Given the description of an element on the screen output the (x, y) to click on. 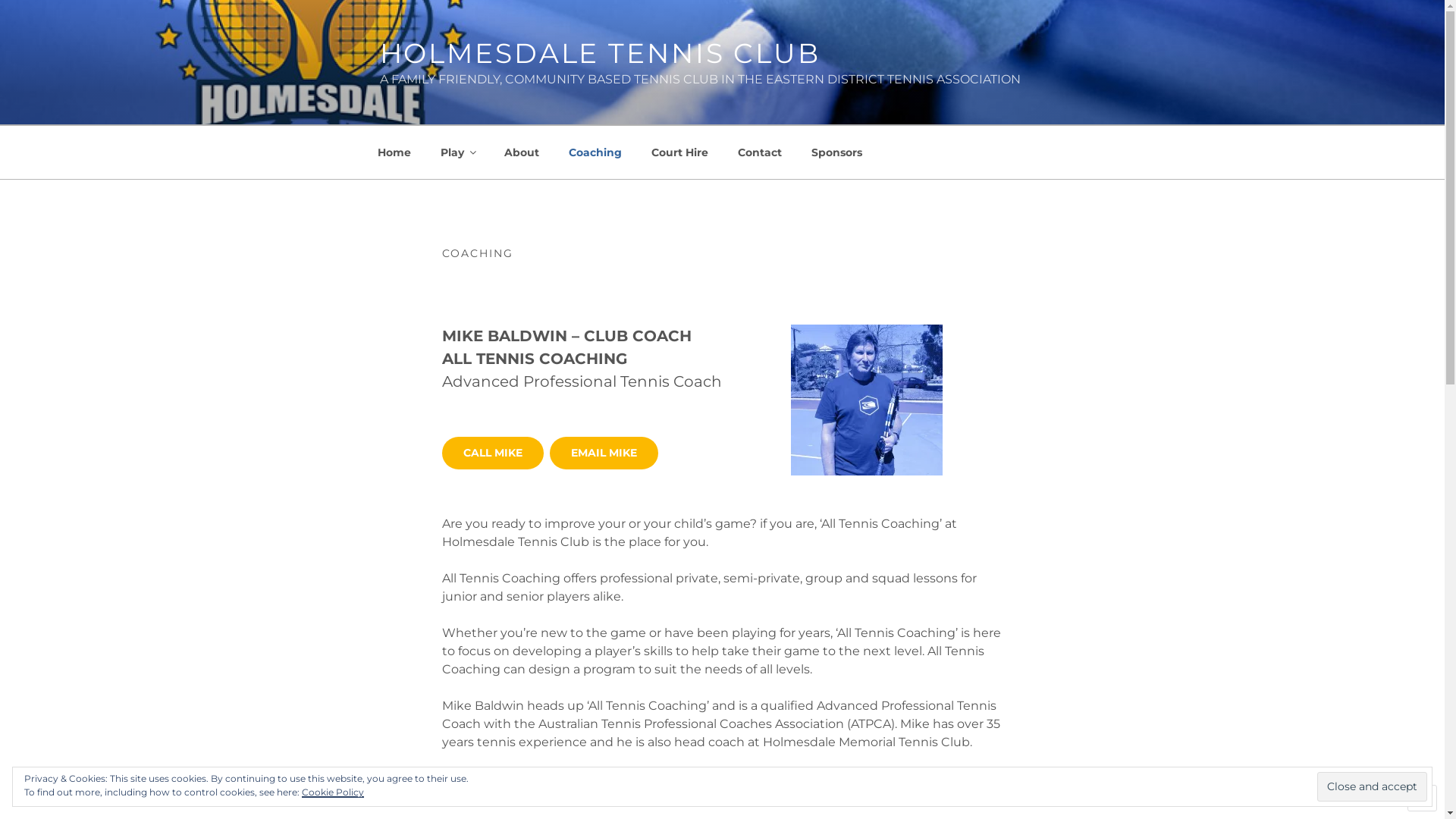
Play Element type: text (457, 151)
HOLMESDALE TENNIS CLUB Element type: text (599, 52)
Coaching Element type: text (594, 151)
CALL MIKE Element type: text (491, 452)
Court Hire Element type: text (679, 151)
Close and accept Element type: text (1372, 786)
EMAIL MIKE Element type: text (603, 452)
Contact Element type: text (759, 151)
Home Element type: text (393, 151)
Sponsors Element type: text (836, 151)
Cookie Policy Element type: text (332, 791)
About Element type: text (521, 151)
